Given the description of an element on the screen output the (x, y) to click on. 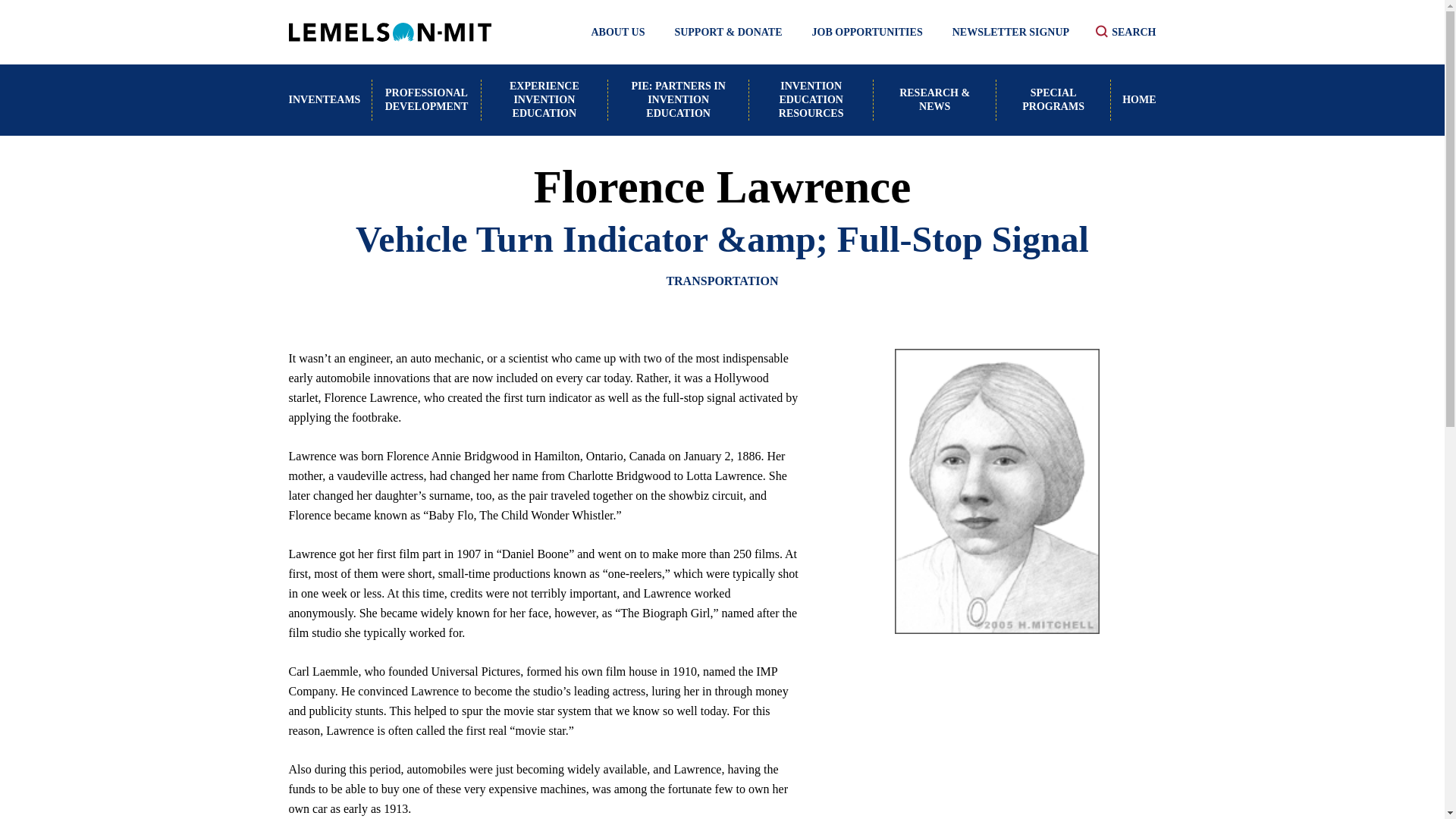
INVENTION EDUCATION RESOURCES (811, 100)
Search (1126, 32)
JOB OPPORTUNITIES (867, 31)
ABOUT US (618, 31)
INVENTEAMS (330, 100)
NEWSLETTER SIGNUP (1010, 31)
PIE: PARTNERS IN INVENTION EDUCATION (678, 100)
SEARCH (1126, 32)
